Given the description of an element on the screen output the (x, y) to click on. 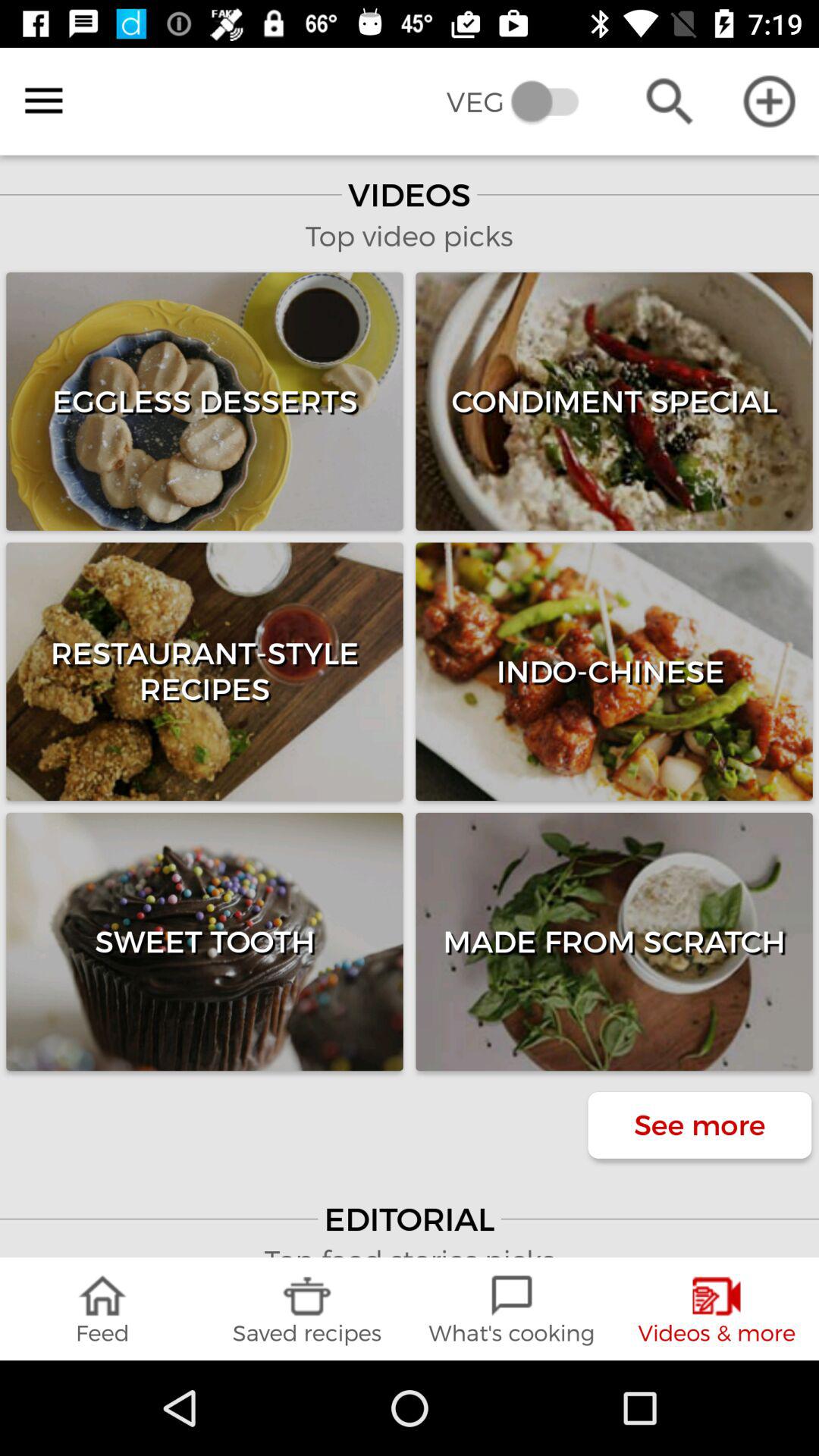
turn off the item to the left of the what's cooking (306, 1308)
